Given the description of an element on the screen output the (x, y) to click on. 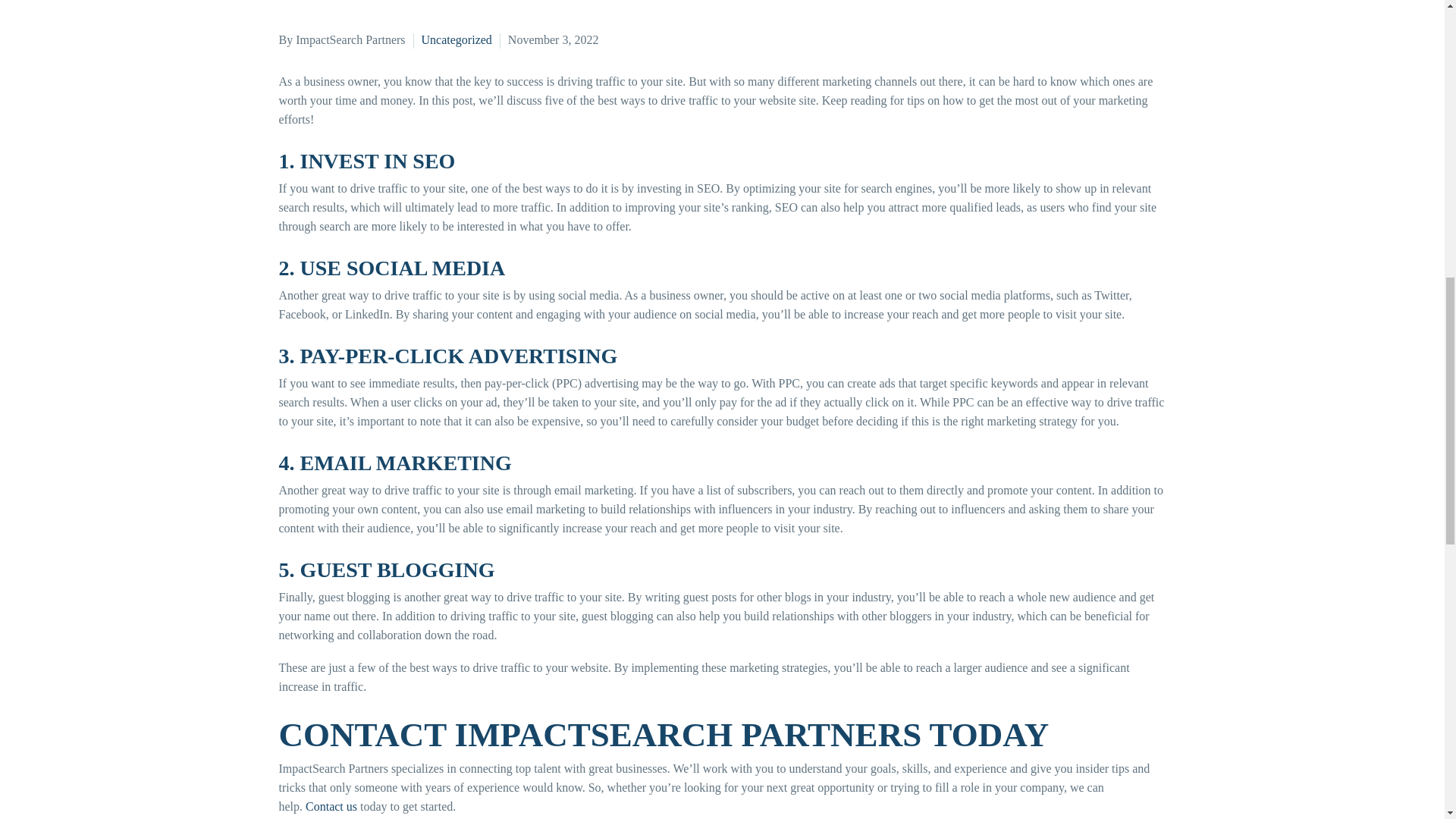
View all posts in Uncategorized (457, 39)
Uncategorized (457, 39)
Contact us (330, 806)
